Given the description of an element on the screen output the (x, y) to click on. 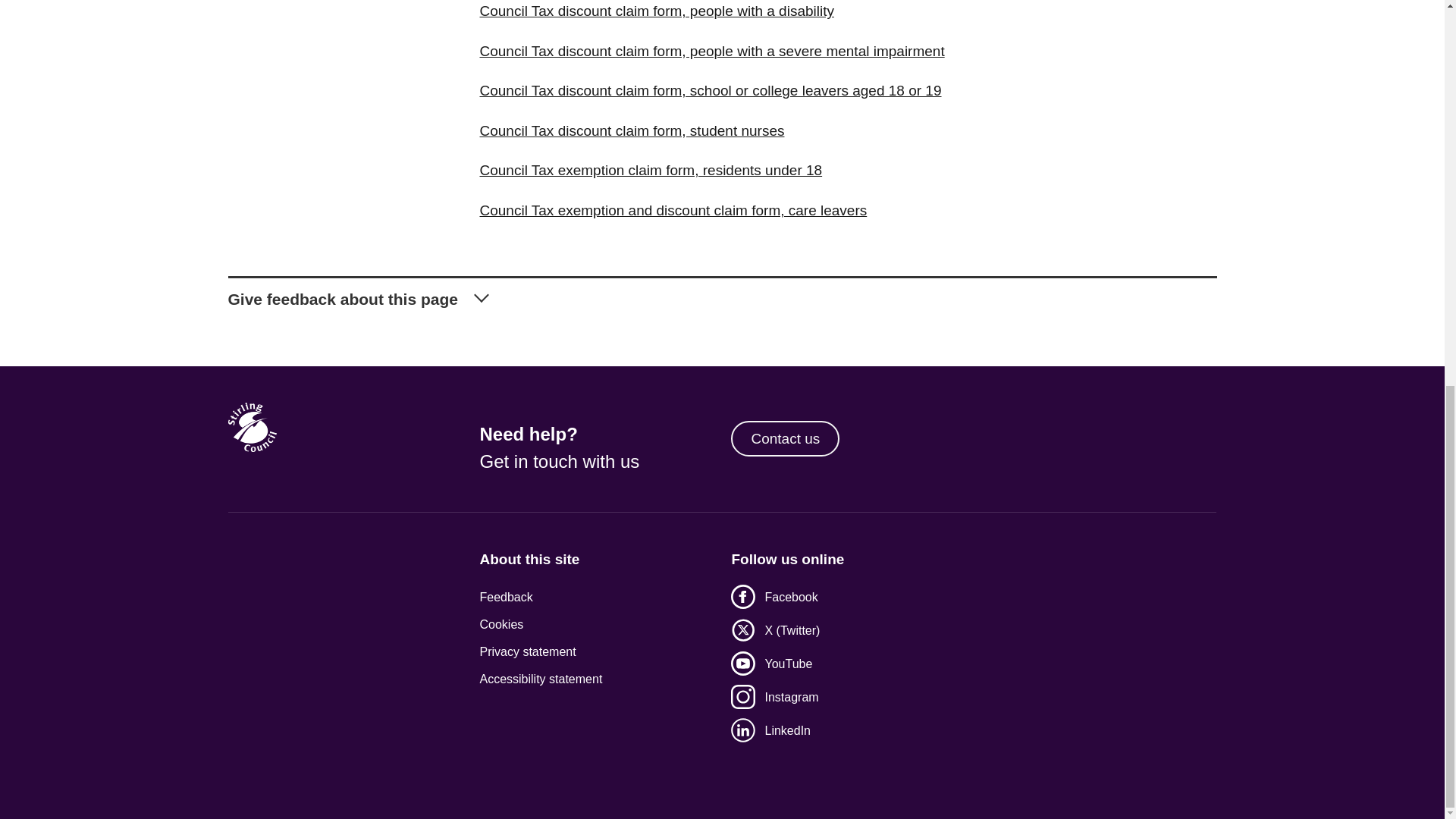
Council Tax exemption and discount claim form, care leavers (672, 210)
Residents under 18 (650, 170)
Council Tax discount claim form, student nurses (631, 130)
School leaver discount (709, 90)
Care Leaver Council Tax Exemption Application (672, 210)
Persons with severe mental illness (711, 50)
Give feedback about this page (721, 294)
Council Tax exemption claim form, residents under 18 (650, 170)
